Given the description of an element on the screen output the (x, y) to click on. 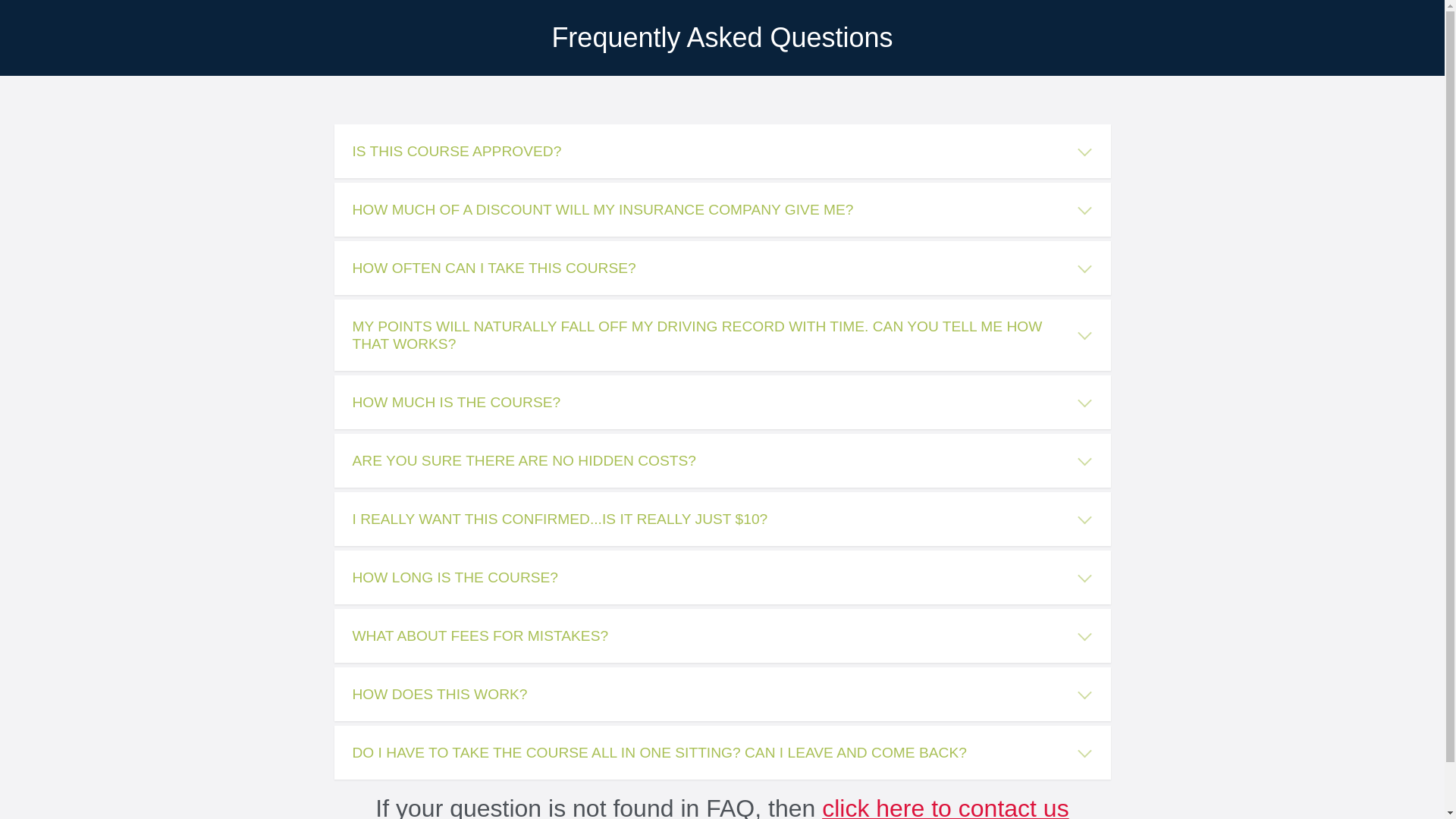
HOW MUCH OF A DISCOUNT WILL MY INSURANCE COMPANY GIVE ME? Element type: text (721, 209)
HOW LONG IS THE COURSE? Element type: text (721, 577)
HOW MUCH IS THE COURSE? Element type: text (721, 402)
HOW OFTEN CAN I TAKE THIS COURSE? Element type: text (721, 267)
WHAT ABOUT FEES FOR MISTAKES? Element type: text (721, 635)
IS THIS COURSE APPROVED? Element type: text (721, 151)
ARE YOU SURE THERE ARE NO HIDDEN COSTS? Element type: text (721, 460)
I REALLY WANT THIS CONFIRMED...IS IT REALLY JUST $10? Element type: text (721, 519)
HOW DOES THIS WORK? Element type: text (721, 694)
